Given the description of an element on the screen output the (x, y) to click on. 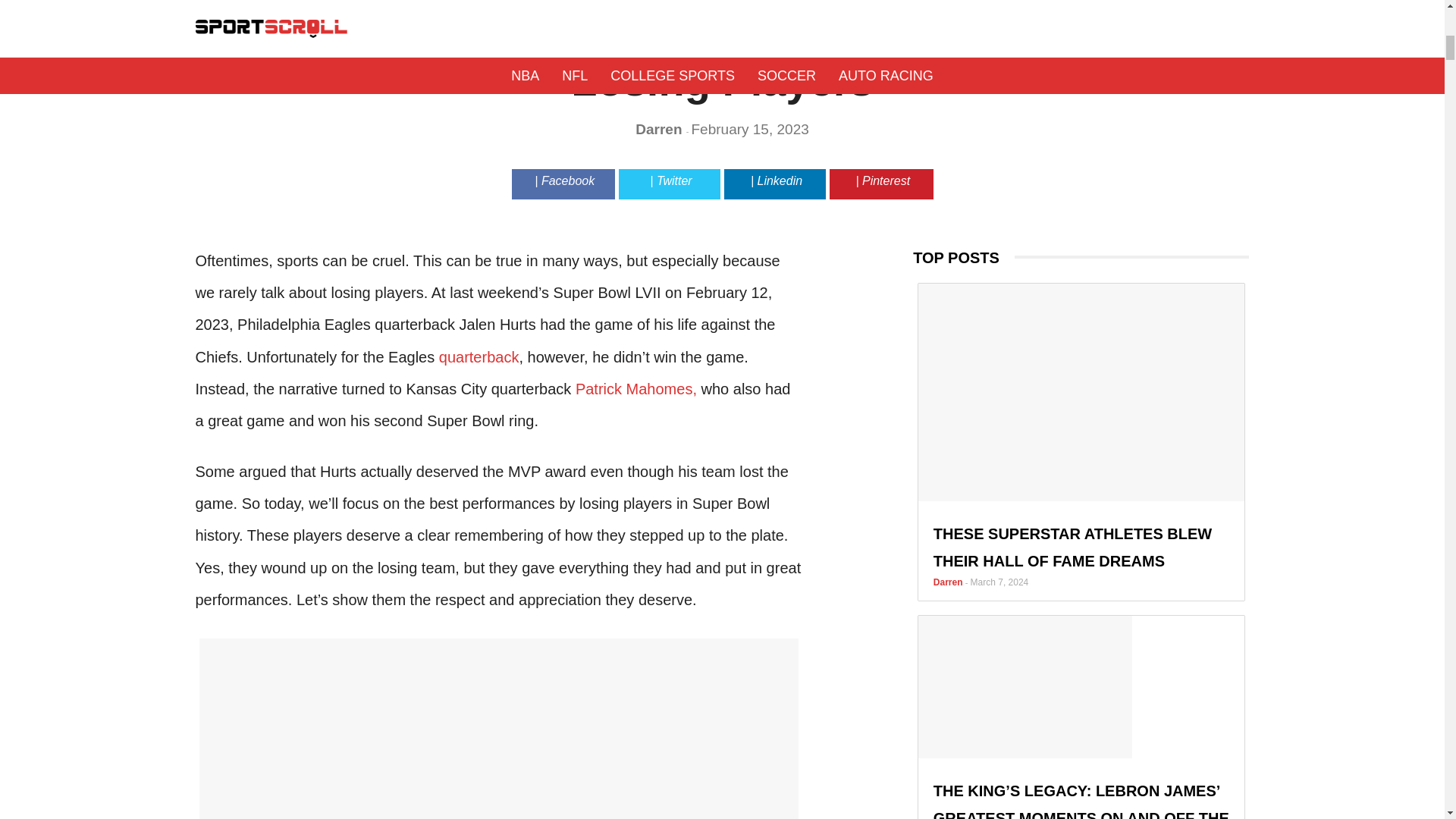
quarterback (479, 356)
Patrick Mahomes, (636, 388)
Darren (659, 129)
